Given the description of an element on the screen output the (x, y) to click on. 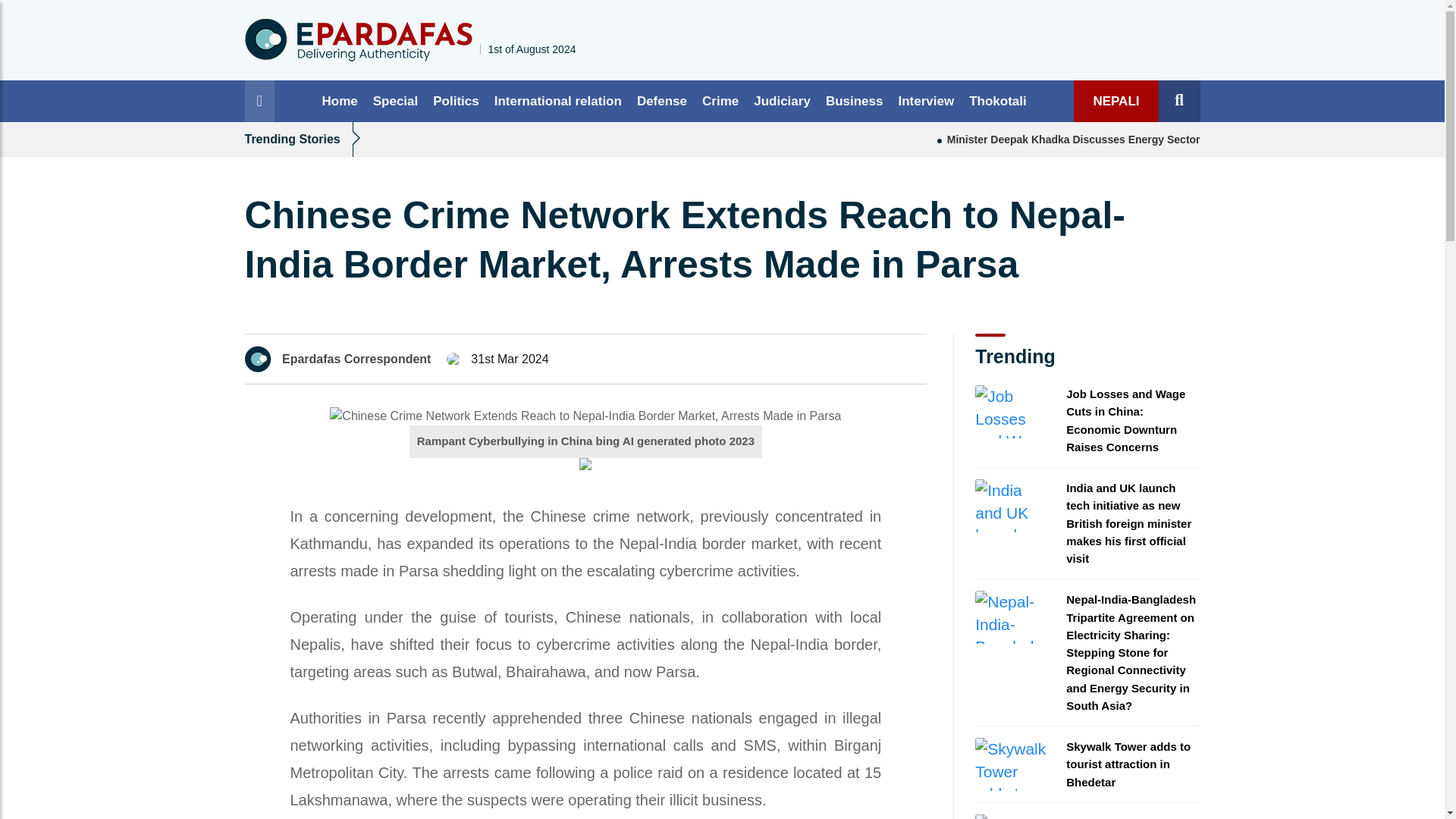
Politics (455, 101)
Defense (661, 101)
Crime (719, 101)
International relation (557, 101)
Home (339, 101)
Special (395, 101)
Judiciary (781, 101)
Thokotali (996, 101)
Business (854, 101)
Epardafas Correspondent (356, 359)
Interview (924, 101)
NEPALI (1115, 101)
